Given the description of an element on the screen output the (x, y) to click on. 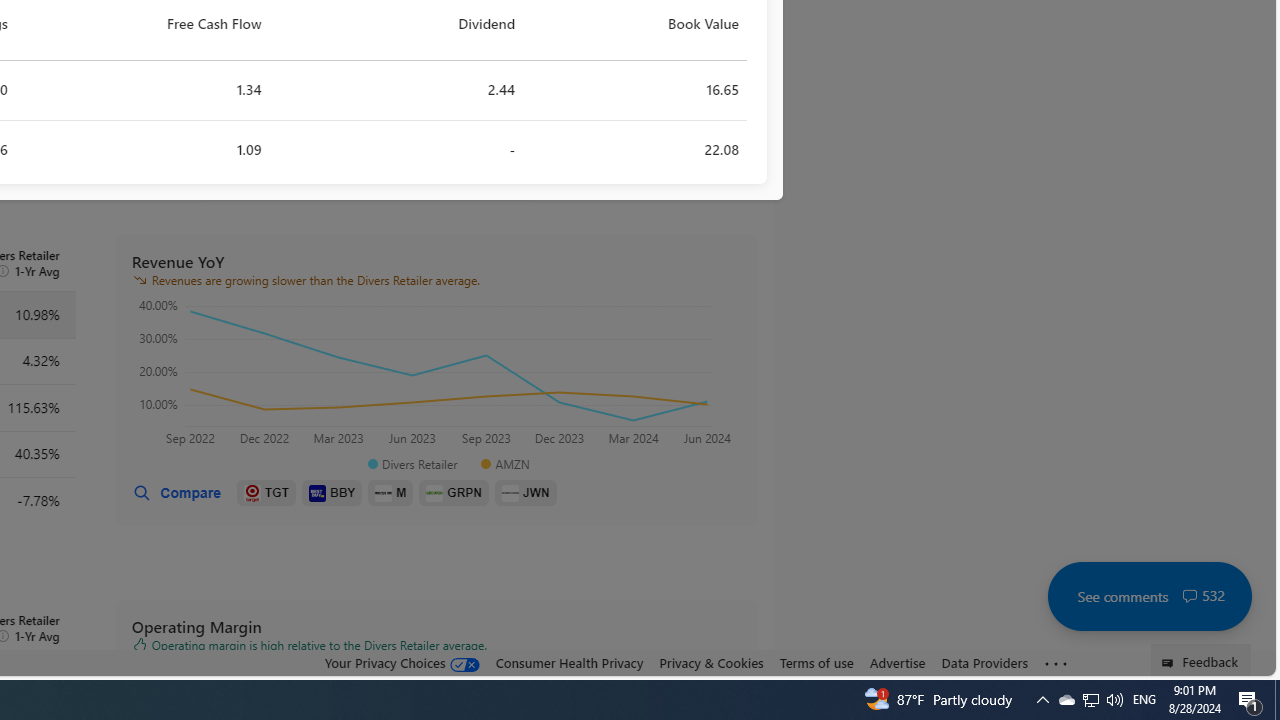
Feedback (1200, 659)
JWN (525, 493)
Terms of use (816, 663)
Class: feedback_link_icon-DS-EntryPoint1-1 (1170, 663)
See comments 532 (1149, 596)
Privacy & Cookies (711, 662)
Your Privacy Choices (401, 662)
Class: imagIcon-DS-EntryPoint1-1 (510, 492)
TGT (265, 493)
M (390, 493)
See more (1055, 664)
Terms of use (816, 662)
